Given the description of an element on the screen output the (x, y) to click on. 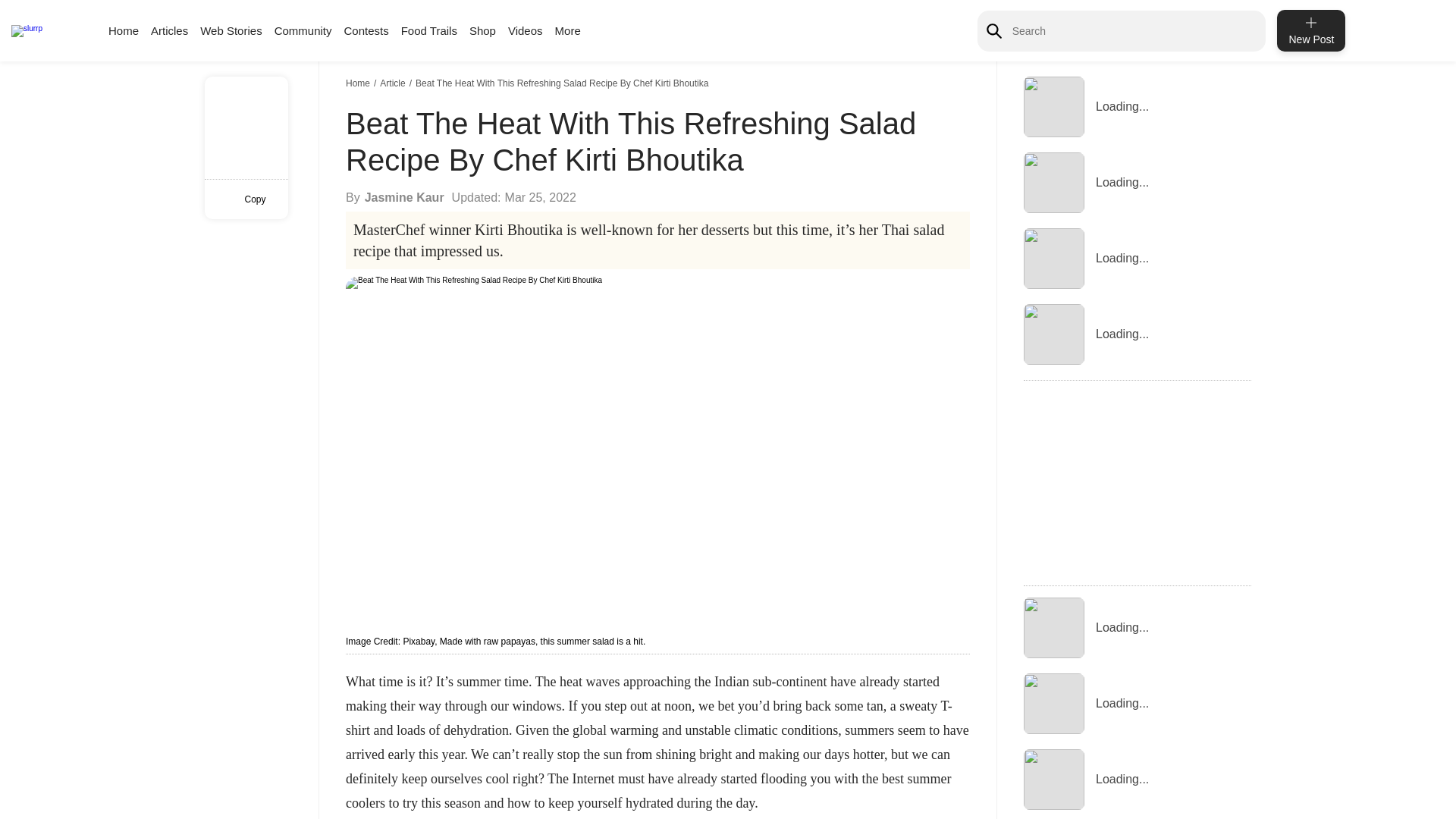
Contests (365, 30)
New Post (1310, 30)
Articles (169, 30)
Videos (525, 30)
Article (394, 82)
Food Trails (429, 30)
Community (303, 30)
Home (122, 30)
Web Stories (231, 30)
Home (360, 82)
